Given the description of an element on the screen output the (x, y) to click on. 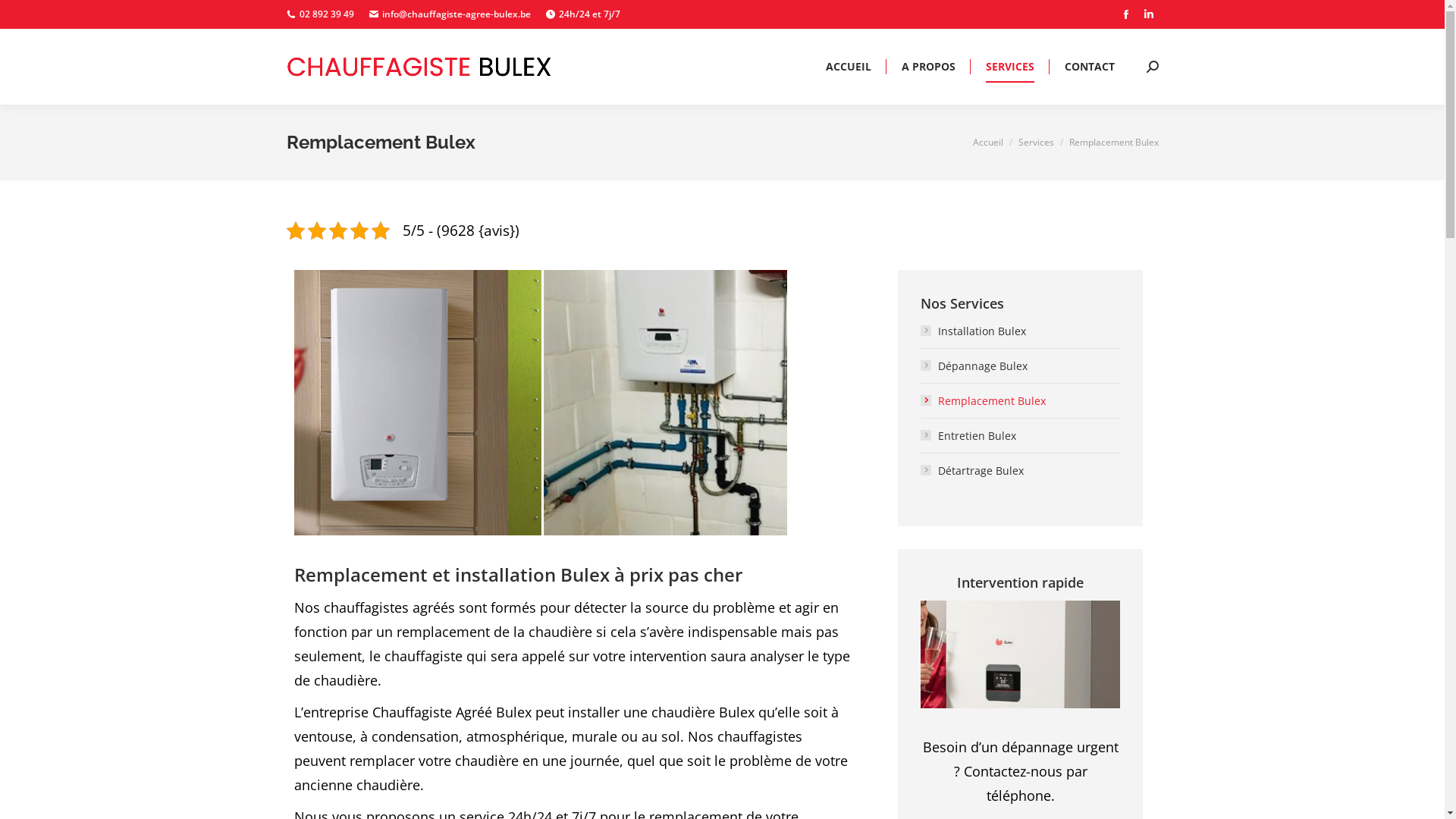
A PROPOS Element type: text (928, 66)
CONTACT Element type: text (1088, 66)
Facebook page opens in new window Element type: text (1125, 14)
Installation Bulex Element type: text (973, 331)
ACCUEIL Element type: text (848, 66)
Services Element type: text (1035, 141)
Accueil Element type: text (987, 141)
Remplacement Bulex Element type: text (982, 401)
Aller ! Element type: text (31, 16)
02 892 39 49 Element type: text (320, 14)
LinkedIn page opens in new window Element type: text (1148, 14)
SERVICES Element type: text (1008, 66)
Aller ! Element type: text (752, 446)
Entretien Bulex Element type: text (968, 435)
